Given the description of an element on the screen output the (x, y) to click on. 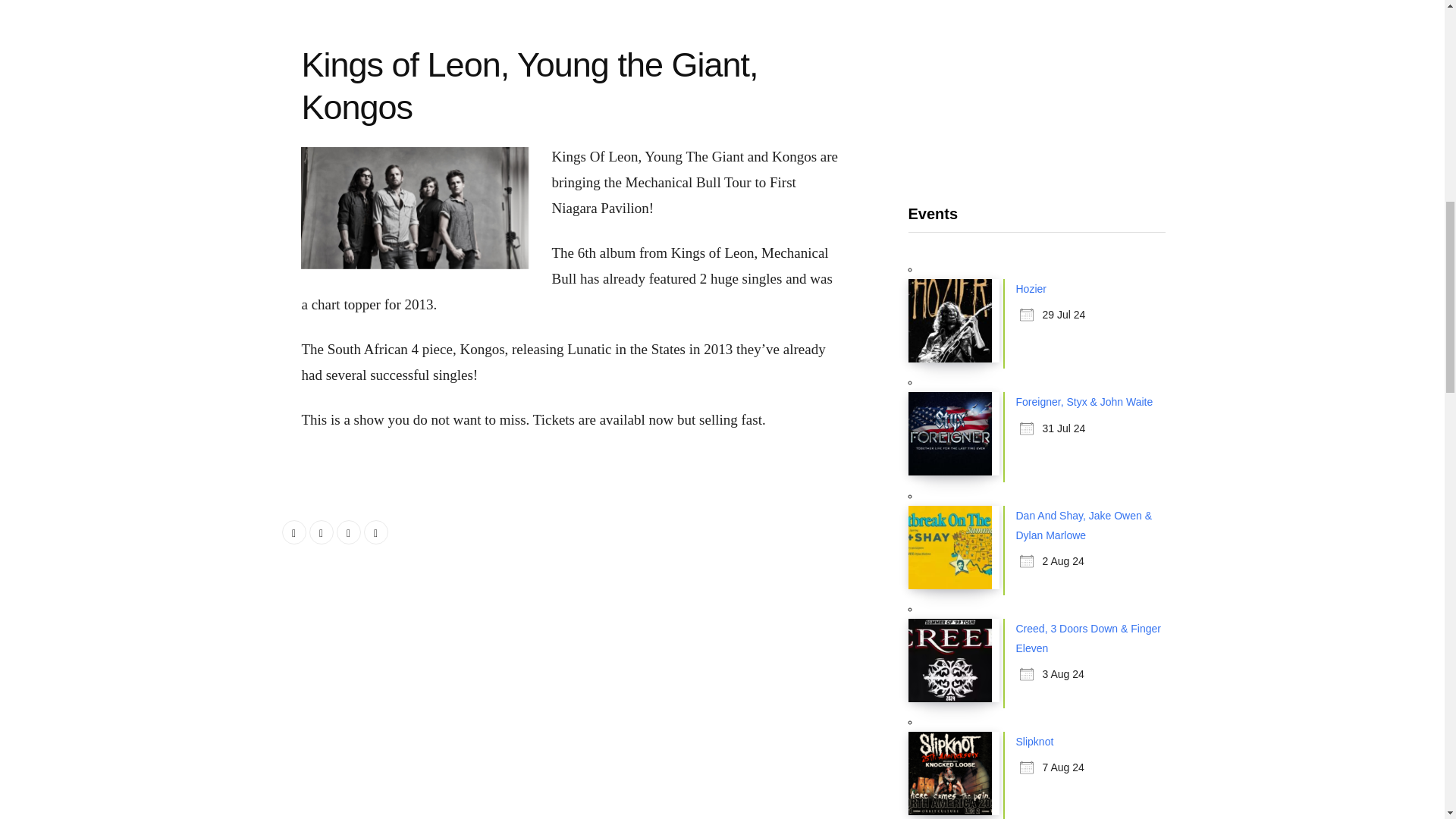
Hozier (1031, 288)
LinkedIn (348, 532)
Pinterest (376, 532)
Facebook (293, 532)
Advertisement (1037, 82)
Twitter (320, 532)
Slipknot (1035, 741)
